Given the description of an element on the screen output the (x, y) to click on. 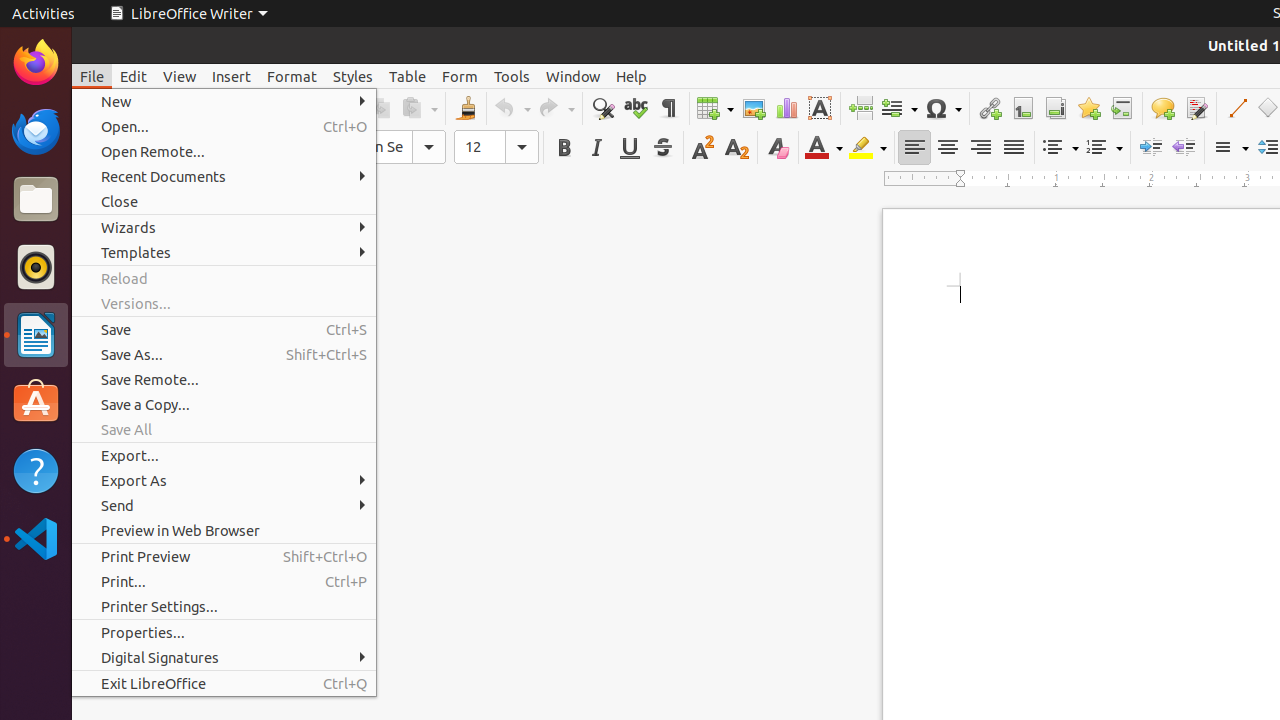
Close Element type: menu-item (224, 201)
Table Element type: menu (407, 76)
New Element type: menu (224, 101)
Send Element type: menu (224, 505)
Cross-reference Element type: push-button (1121, 108)
